Given the description of an element on the screen output the (x, y) to click on. 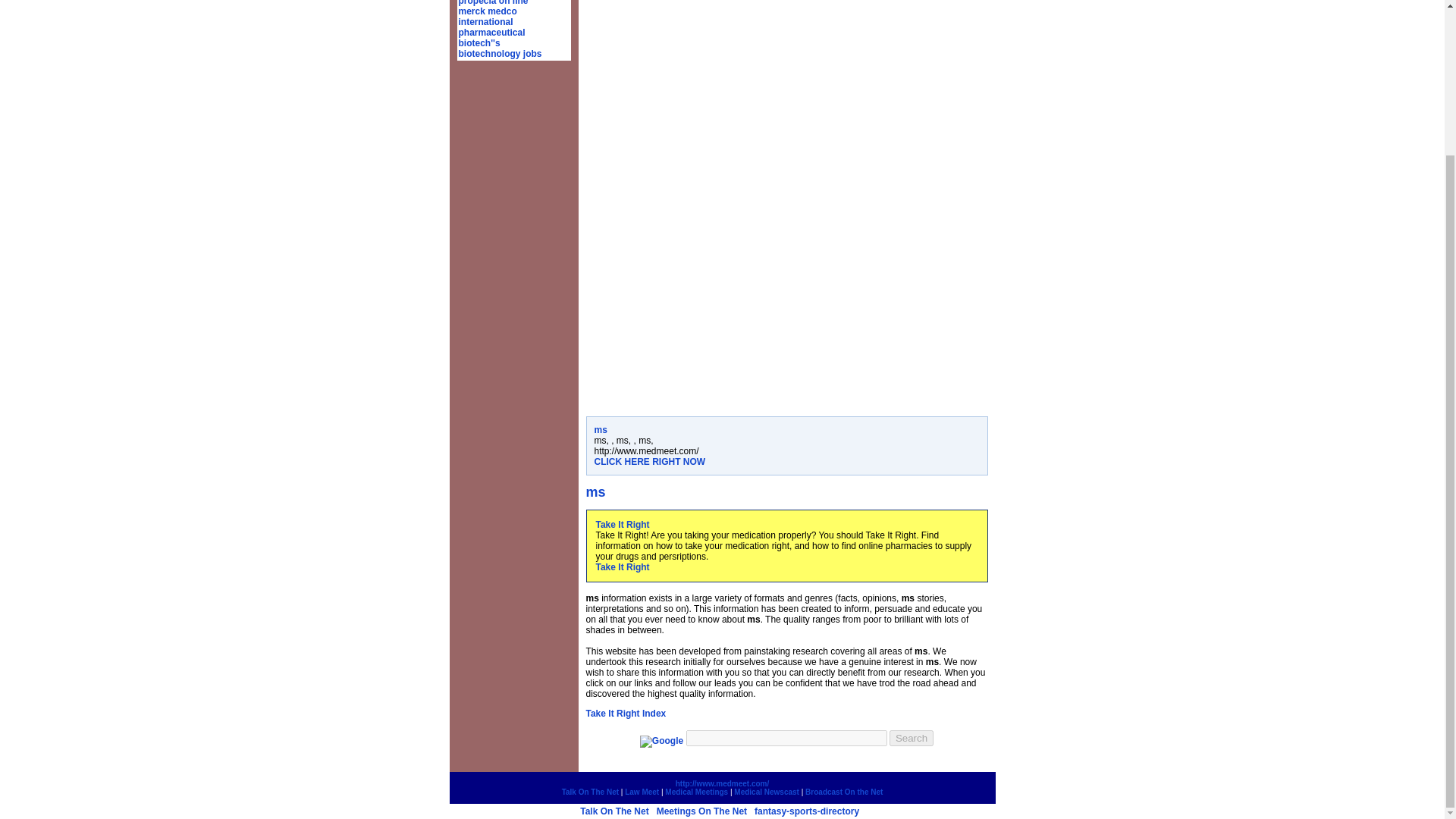
merck medco (487, 10)
Talk On The Net (590, 791)
Medical Meetings (696, 791)
biotech''s (478, 42)
Take It Right (622, 566)
Broadcast On the Net (843, 791)
Law Meet (641, 791)
Search (911, 738)
fantasy-sports-directory (806, 810)
Meetings On The Net (701, 810)
Medical Newscast (766, 791)
ms (600, 429)
Talk On The Net (613, 810)
Take It Right Index (625, 713)
international pharmaceutical (491, 26)
